Given the description of an element on the screen output the (x, y) to click on. 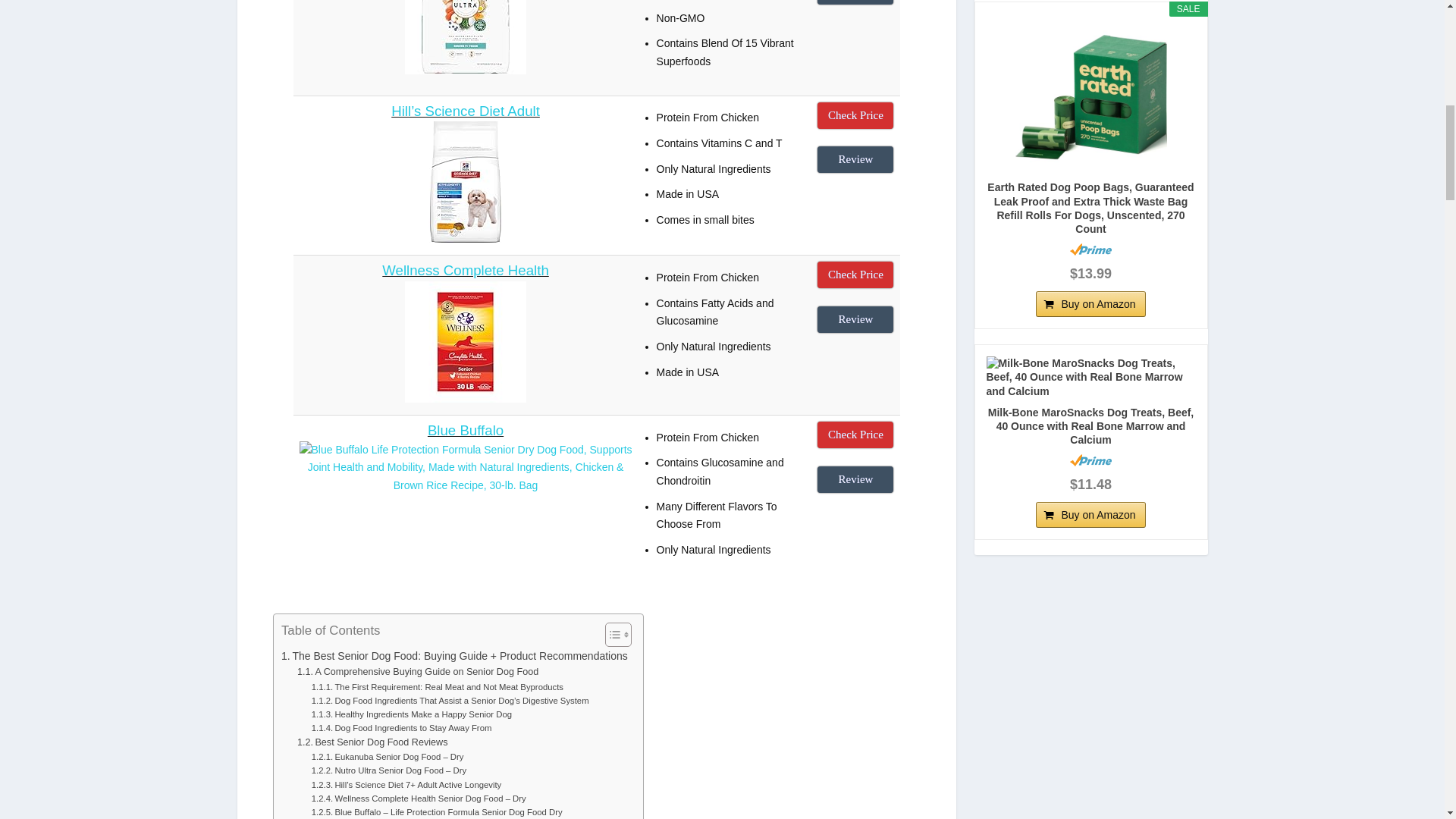
Best Senior Dog Food Reviews (372, 742)
A Comprehensive Buying Guide on Senior Dog Food (417, 671)
Best Senior Dog Food Reviews (372, 742)
Review (854, 479)
A Comprehensive Buying Guide on Senior Dog Food (417, 671)
Check Price (854, 115)
Healthy Ingredients Make a Happy Senior Dog (411, 714)
Check Price (854, 274)
Healthy Ingredients Make a Happy Senior Dog (411, 714)
